Given the description of an element on the screen output the (x, y) to click on. 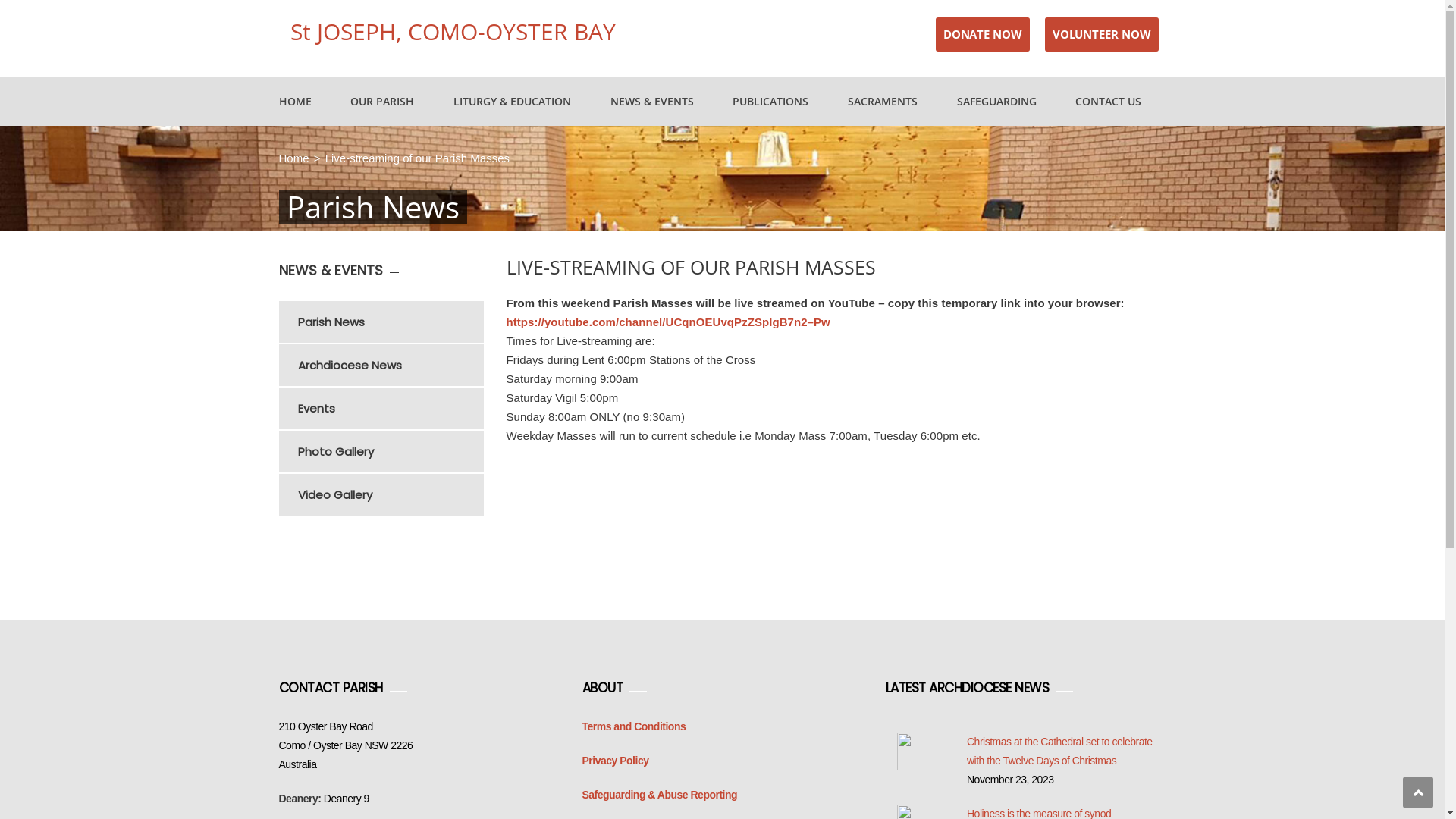
LITURGY & EDUCATION Element type: text (512, 100)
Privacy Policy Element type: text (615, 760)
DONATE NOW Element type: text (982, 34)
OUR PARISH Element type: text (382, 100)
DONATE NOW Element type: text (982, 34)
St JOSEPH, COMO-OYSTER BAY Element type: text (452, 31)
Search Element type: text (1144, 169)
SAFEGUARDING Element type: text (996, 100)
HOME Element type: text (295, 100)
PUBLICATIONS Element type: text (770, 100)
Safeguarding & Abuse Reporting Element type: text (659, 794)
Photo Gallery Element type: text (390, 451)
Home Element type: text (294, 157)
Video Gallery Element type: text (390, 494)
Archdiocese News Element type: text (390, 364)
Terms and Conditions Element type: text (634, 726)
VOLUNTEER NOW Element type: text (1101, 34)
Events Element type: text (390, 408)
NEWS & EVENTS Element type: text (651, 100)
Parish News Element type: text (390, 321)
CONTACT US Element type: text (1108, 100)
SACRAMENTS Element type: text (882, 100)
VOLUNTEER NOW Element type: text (1101, 34)
